Given the description of an element on the screen output the (x, y) to click on. 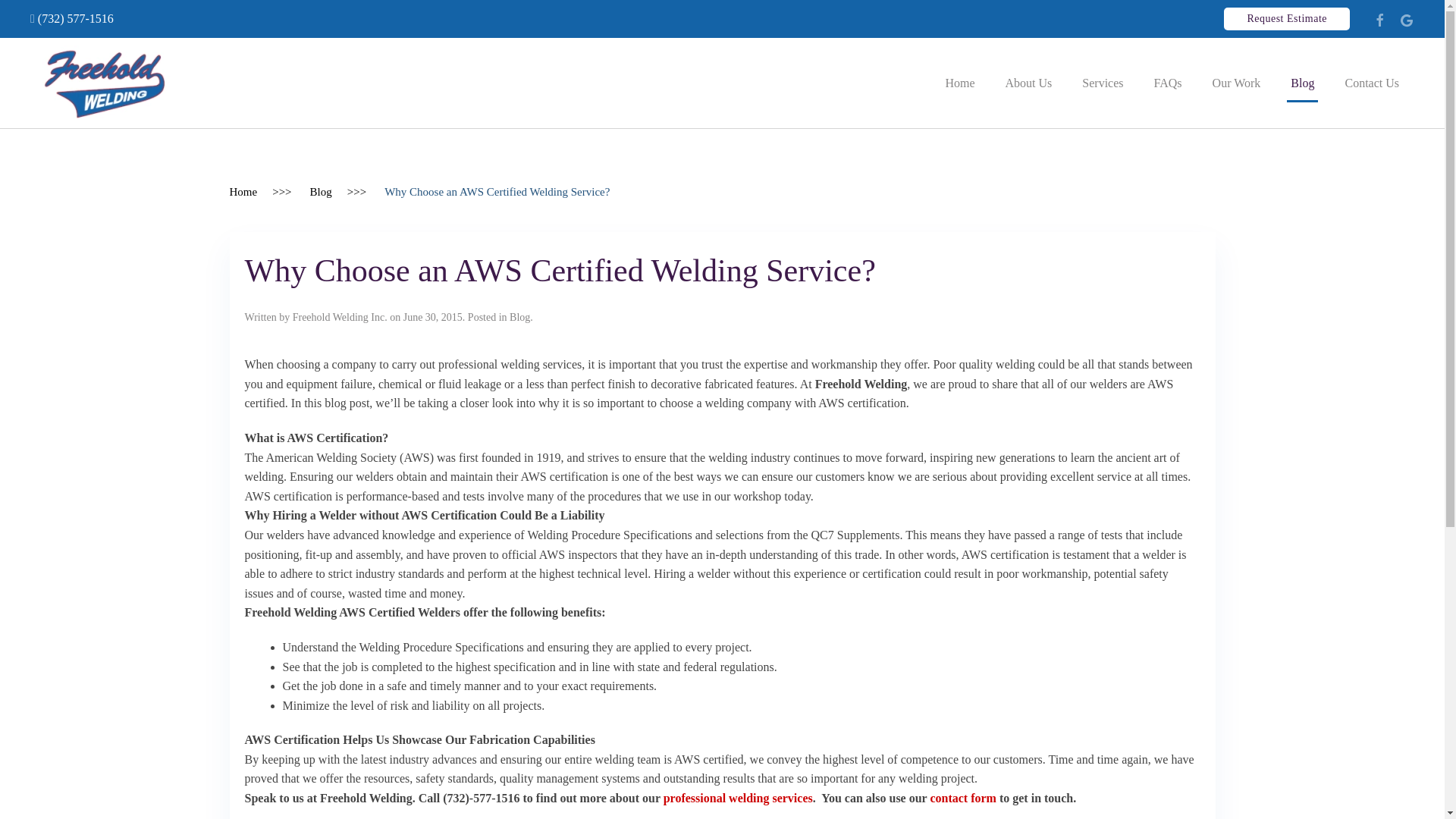
Request Estimate (1286, 18)
About Us (1028, 82)
professional welding services (737, 797)
FAQs (1167, 82)
Our Work (1236, 82)
Home (242, 191)
Blog (519, 317)
Home (960, 82)
Freehold Welding Inc. (339, 317)
Contact Us (1371, 82)
Services (1102, 82)
Blog (1302, 82)
Blog (320, 191)
